Given the description of an element on the screen output the (x, y) to click on. 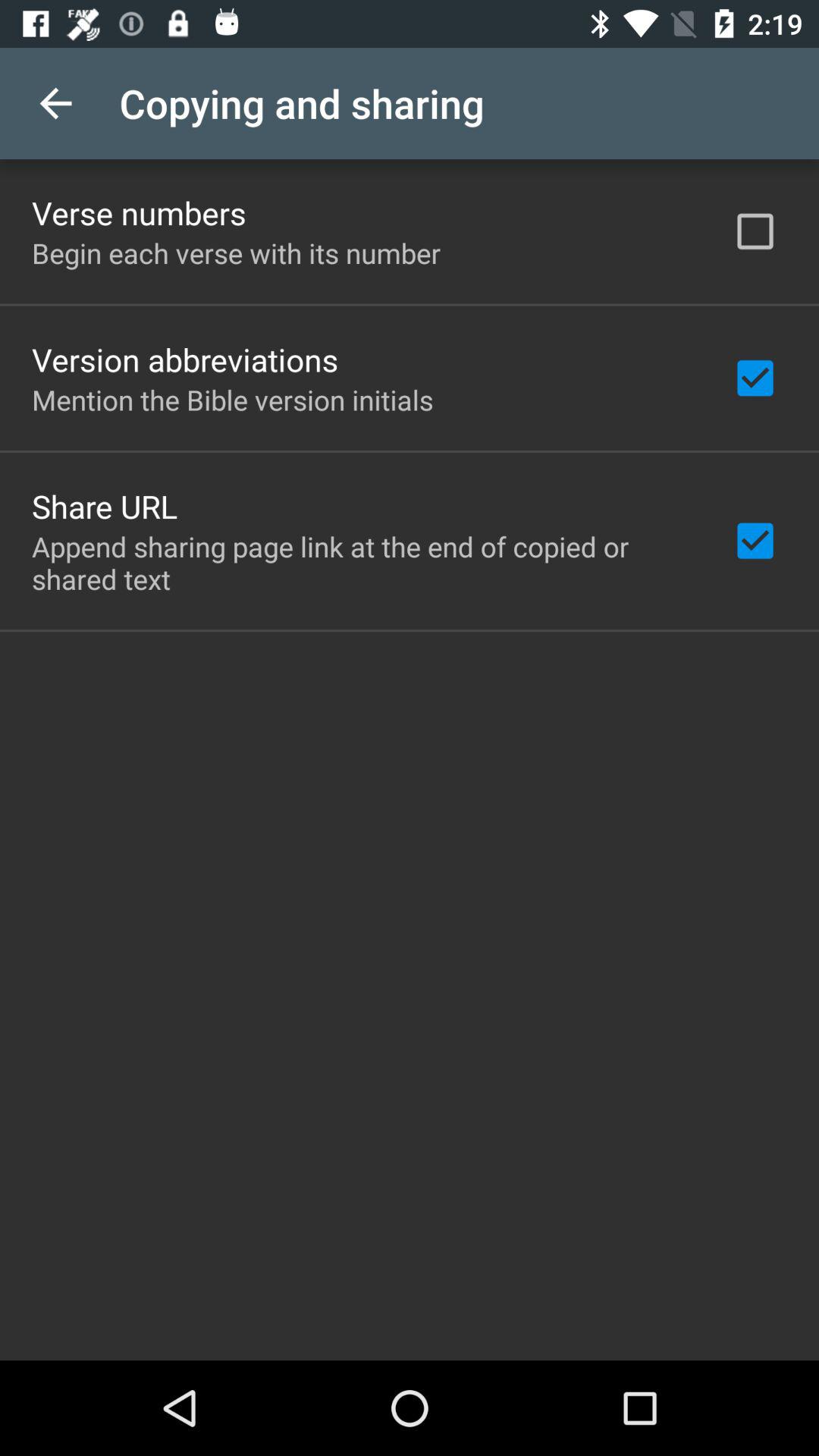
press icon above verse numbers icon (55, 103)
